Given the description of an element on the screen output the (x, y) to click on. 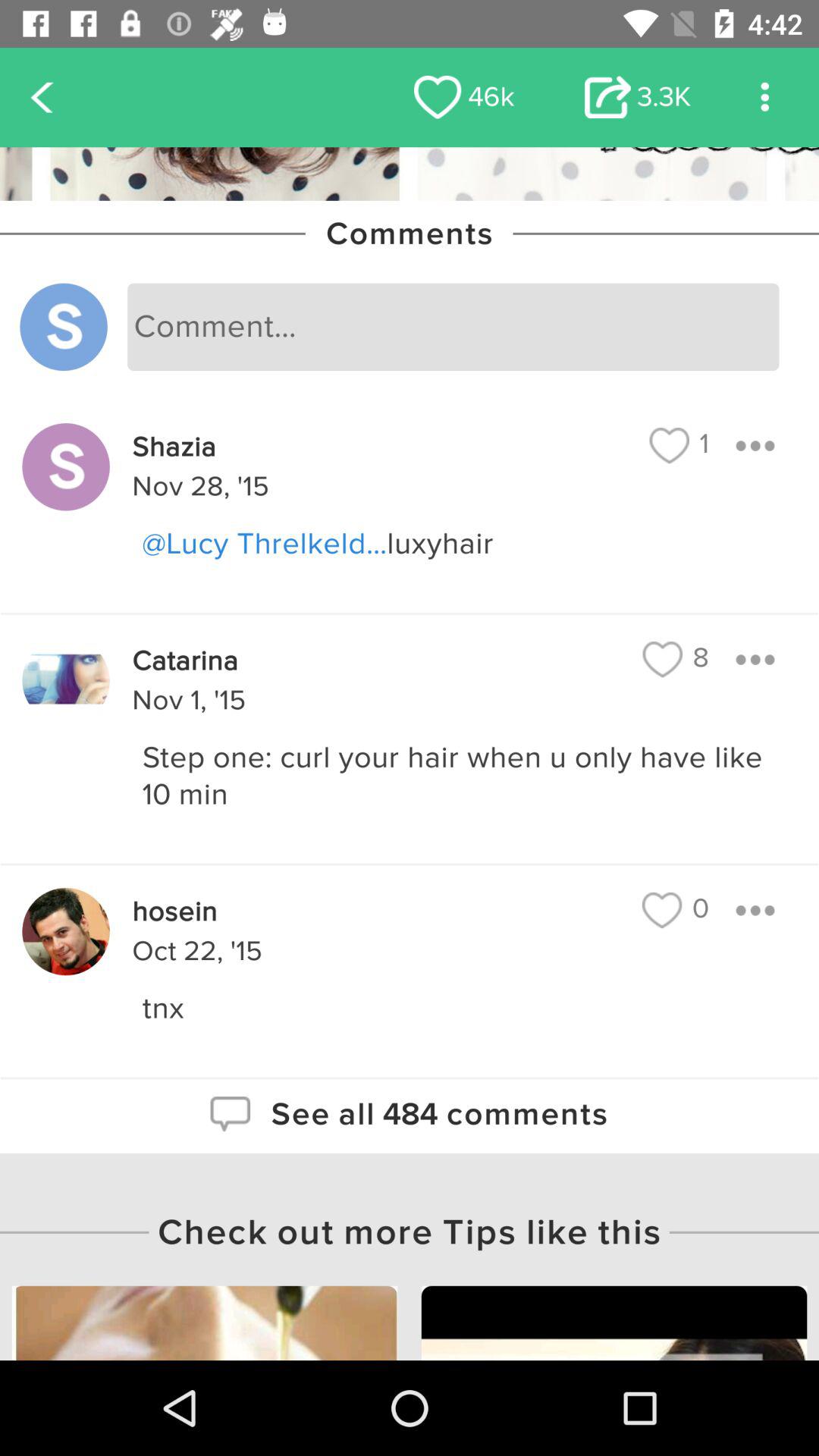
write a comment (453, 326)
